Given the description of an element on the screen output the (x, y) to click on. 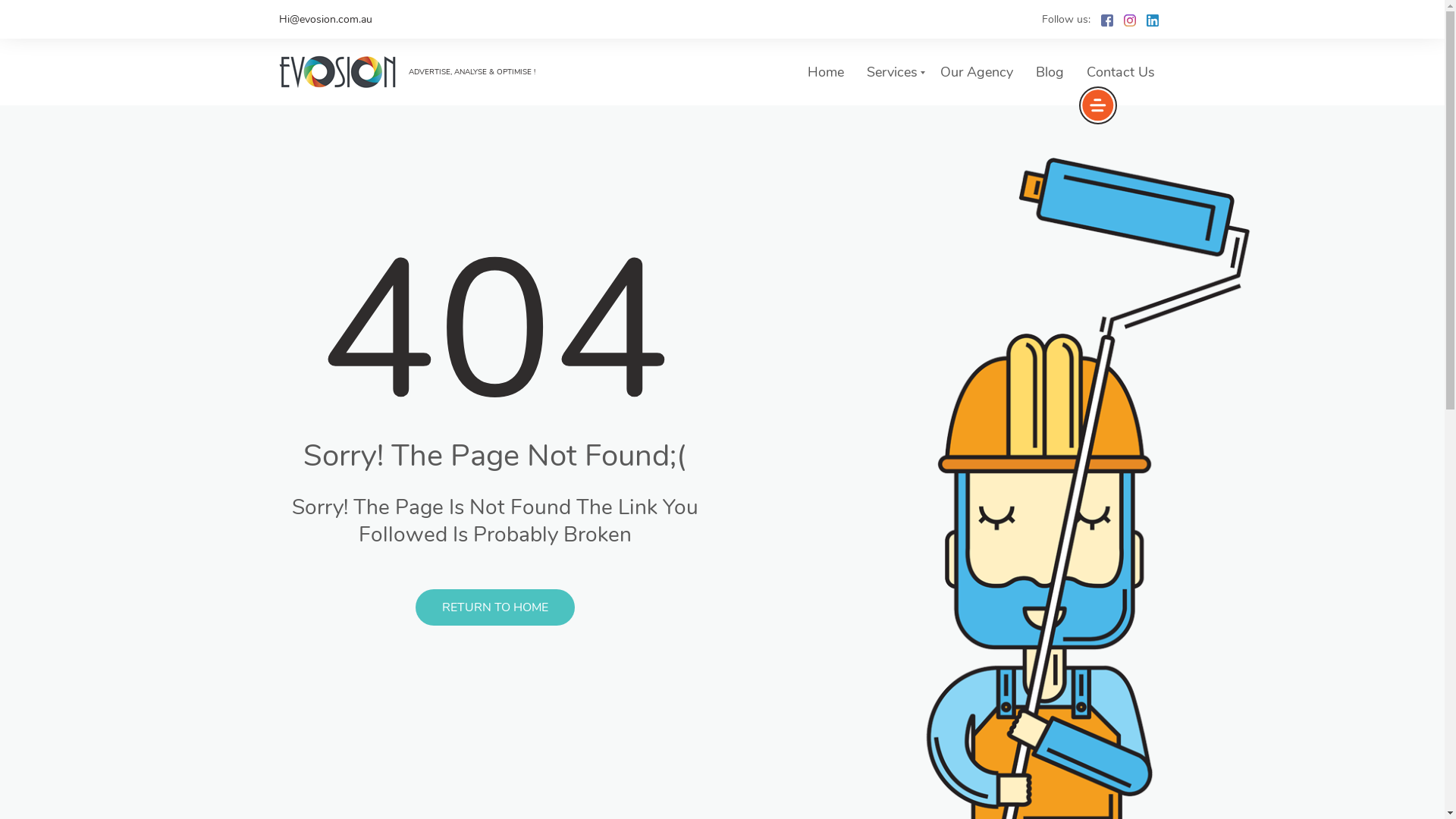
Services Element type: text (891, 71)
Blog Element type: text (1049, 71)
Our Agency Element type: text (976, 71)
Contact Us Element type: text (1119, 71)
Home Element type: text (824, 71)
RETURN TO HOME Element type: text (494, 607)
